Given the description of an element on the screen output the (x, y) to click on. 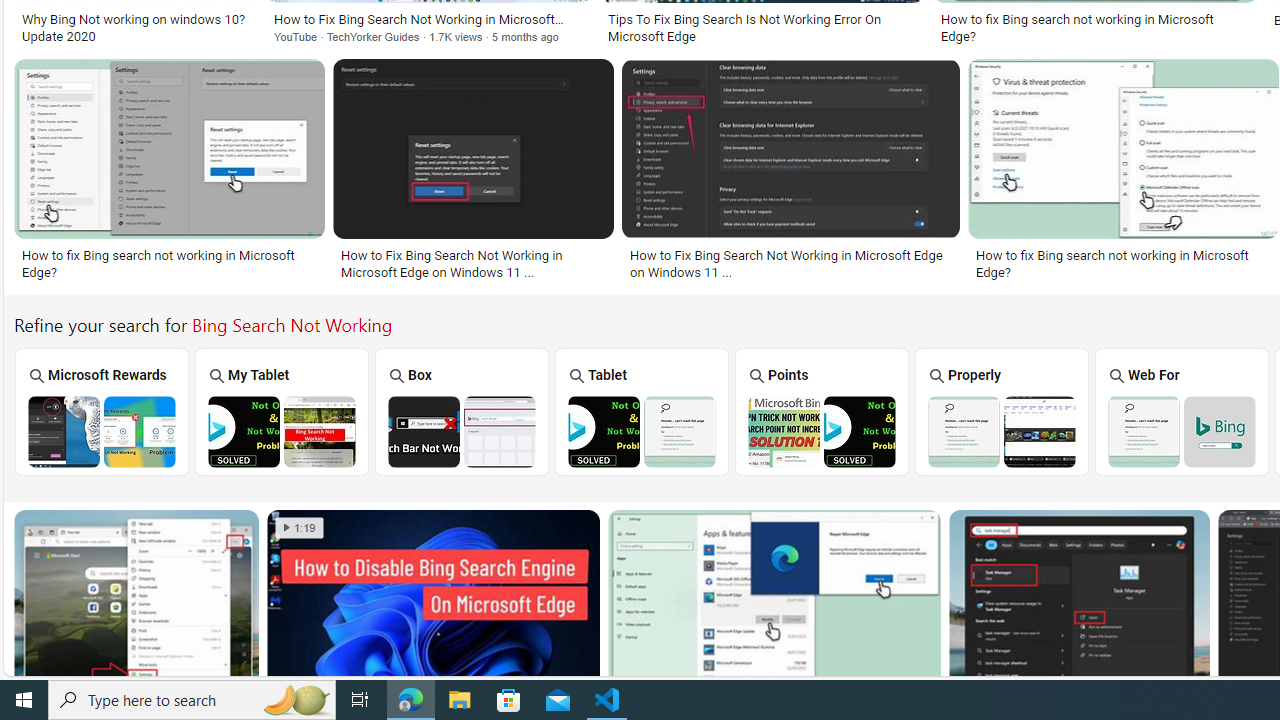
Microsoft Rewards Bing Search Not Working Microsoft Rewards (101, 411)
Tablet (641, 411)
Properly (1002, 411)
Bing Search Box Not Working Box (461, 411)
Bing Search Not Working Properly Properly (1002, 411)
My Tablet (281, 411)
Image result for Bing Search Not Working (1078, 602)
Bing Search Points Not Working (821, 431)
Bing Search the Web for Image Not Working (1181, 431)
Bing Search Points Not Working Points (821, 411)
Microsoft Rewards Bing Search Not Working (102, 431)
